Given the description of an element on the screen output the (x, y) to click on. 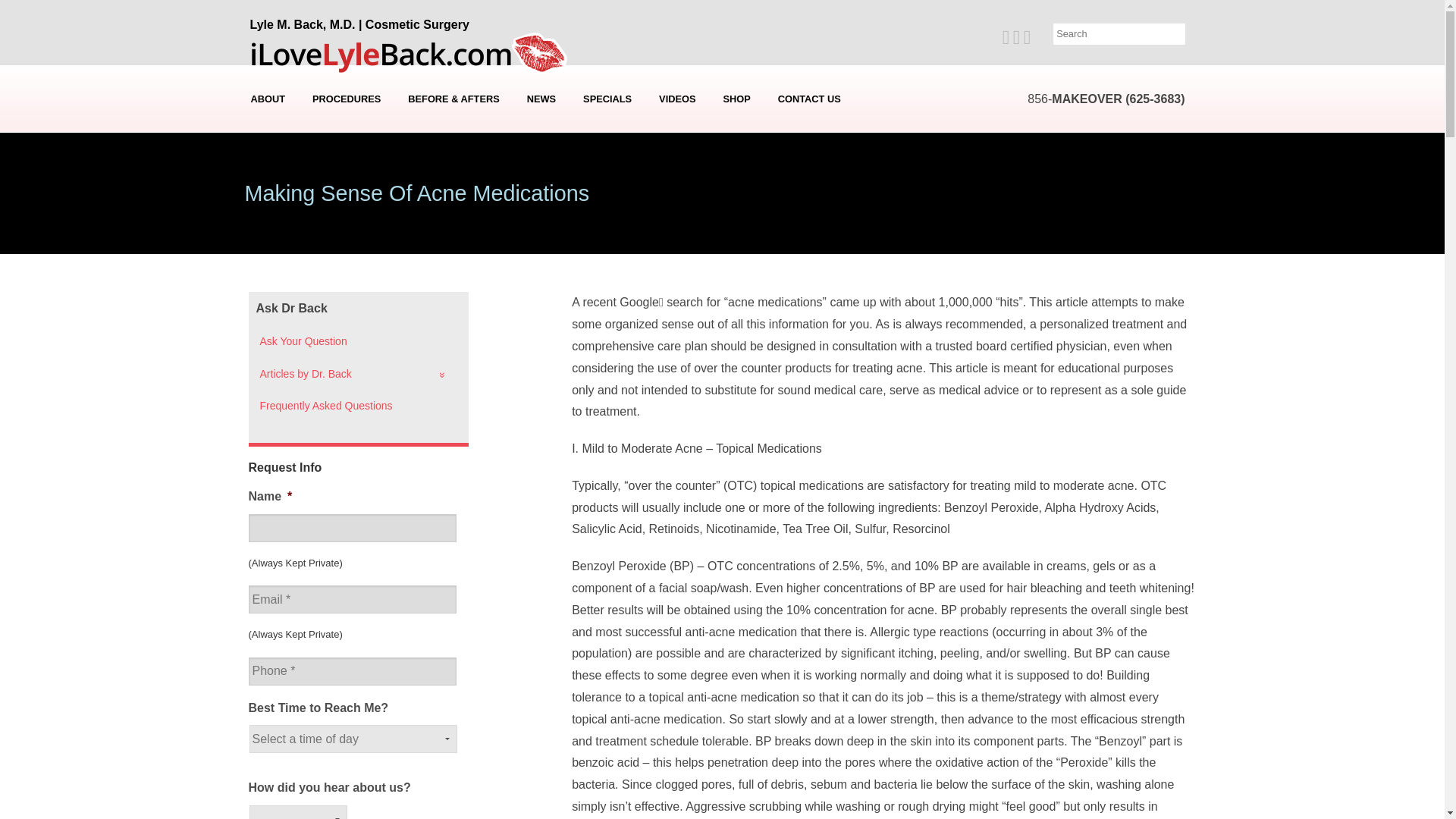
COSMETIC SKIN CARE SPECIALISTS (268, 197)
Listen to Dr Back talk about common questions from patients (676, 98)
THE BACK BLOG (543, 197)
NEWSLETTER (543, 151)
BREAST (346, 151)
PROCEDURES (346, 98)
PRESS RELEASES (543, 174)
NON-SURGICAL (346, 242)
Lyle M. Back M.D. Cosmetic Surgery (411, 50)
VIDEOS (676, 98)
Cosmetic surgery and skin care services (346, 98)
About Cosmetic Skin Care Specialists of Cherry Hill (268, 197)
NEWS (541, 98)
CONTACT US (809, 98)
HYDRAFACIAL SYNDEO (346, 128)
